Given the description of an element on the screen output the (x, y) to click on. 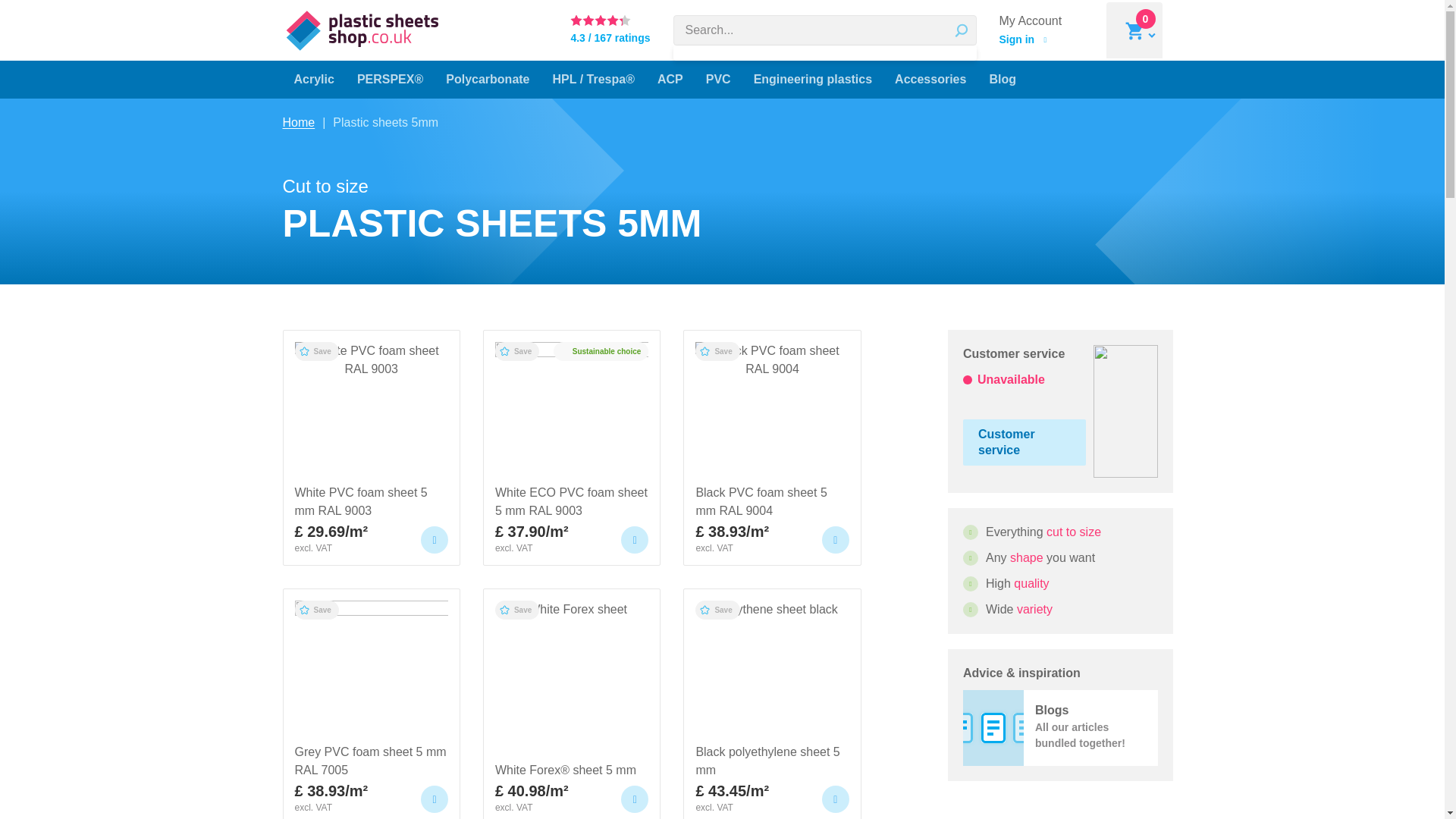
Search (961, 30)
Straight to content (1044, 30)
0 (24, 13)
